Given the description of an element on the screen output the (x, y) to click on. 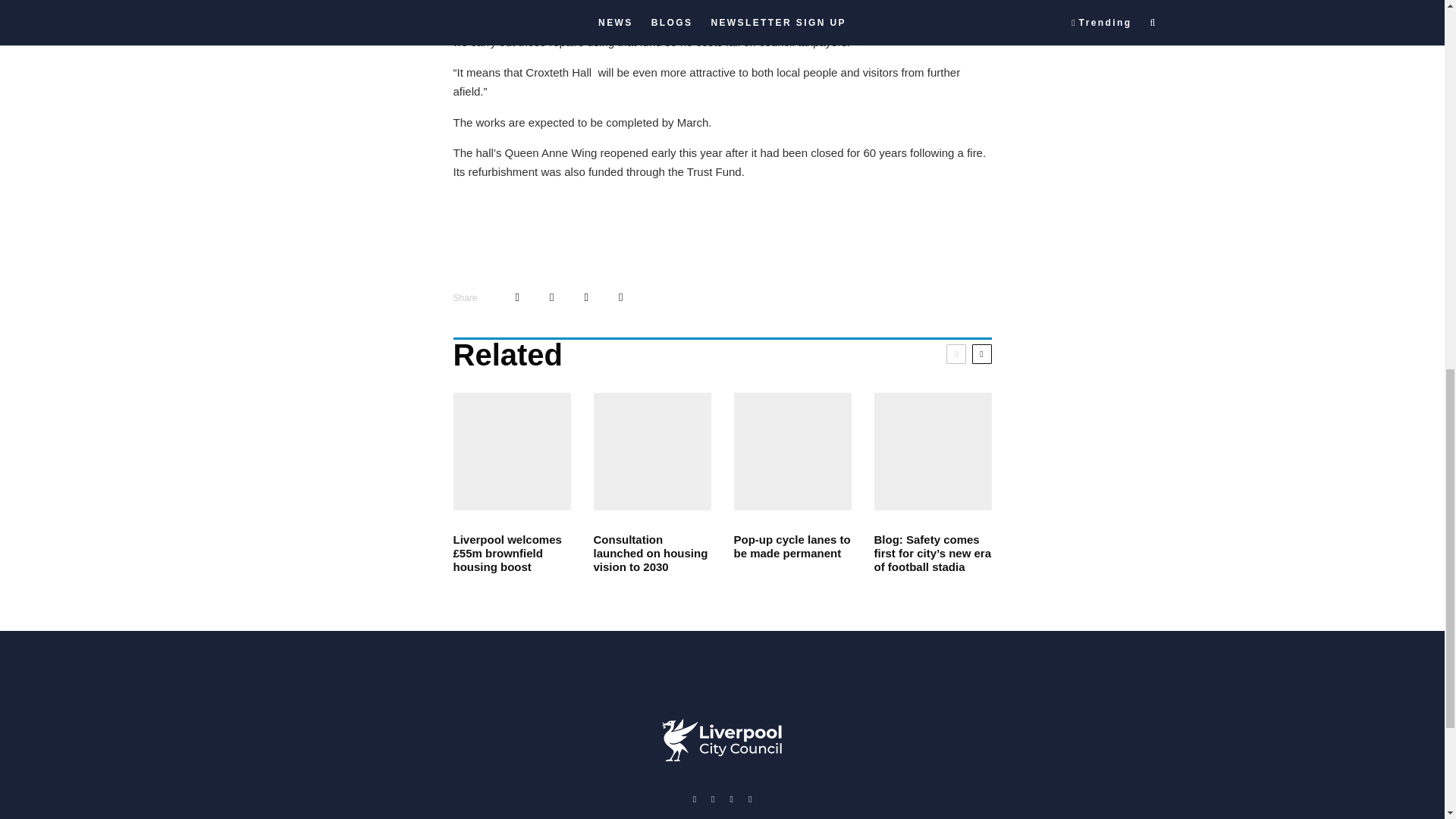
Pop-up cycle lanes to be made permanent (792, 546)
Consultation launched on housing vision to 2030 (651, 553)
